Given the description of an element on the screen output the (x, y) to click on. 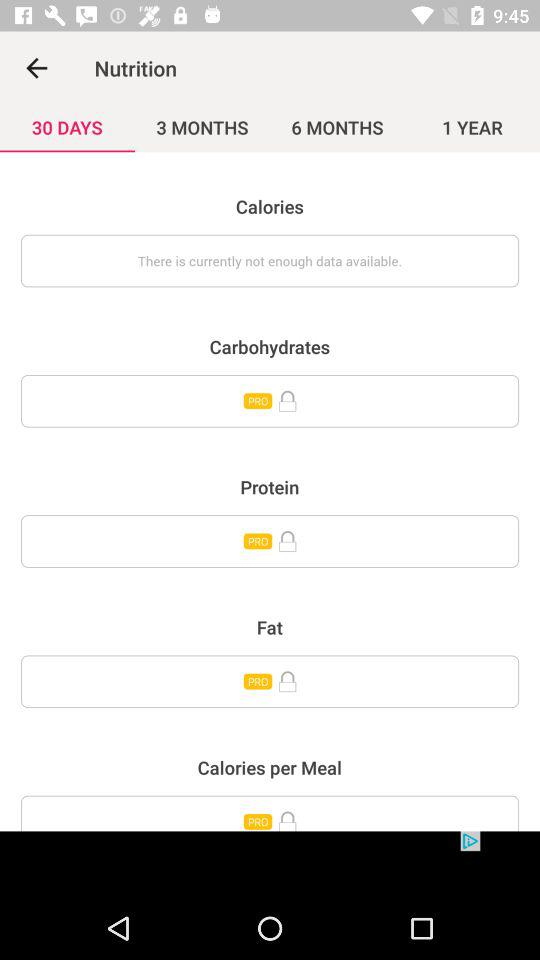
click the calories per meal (269, 813)
